Given the description of an element on the screen output the (x, y) to click on. 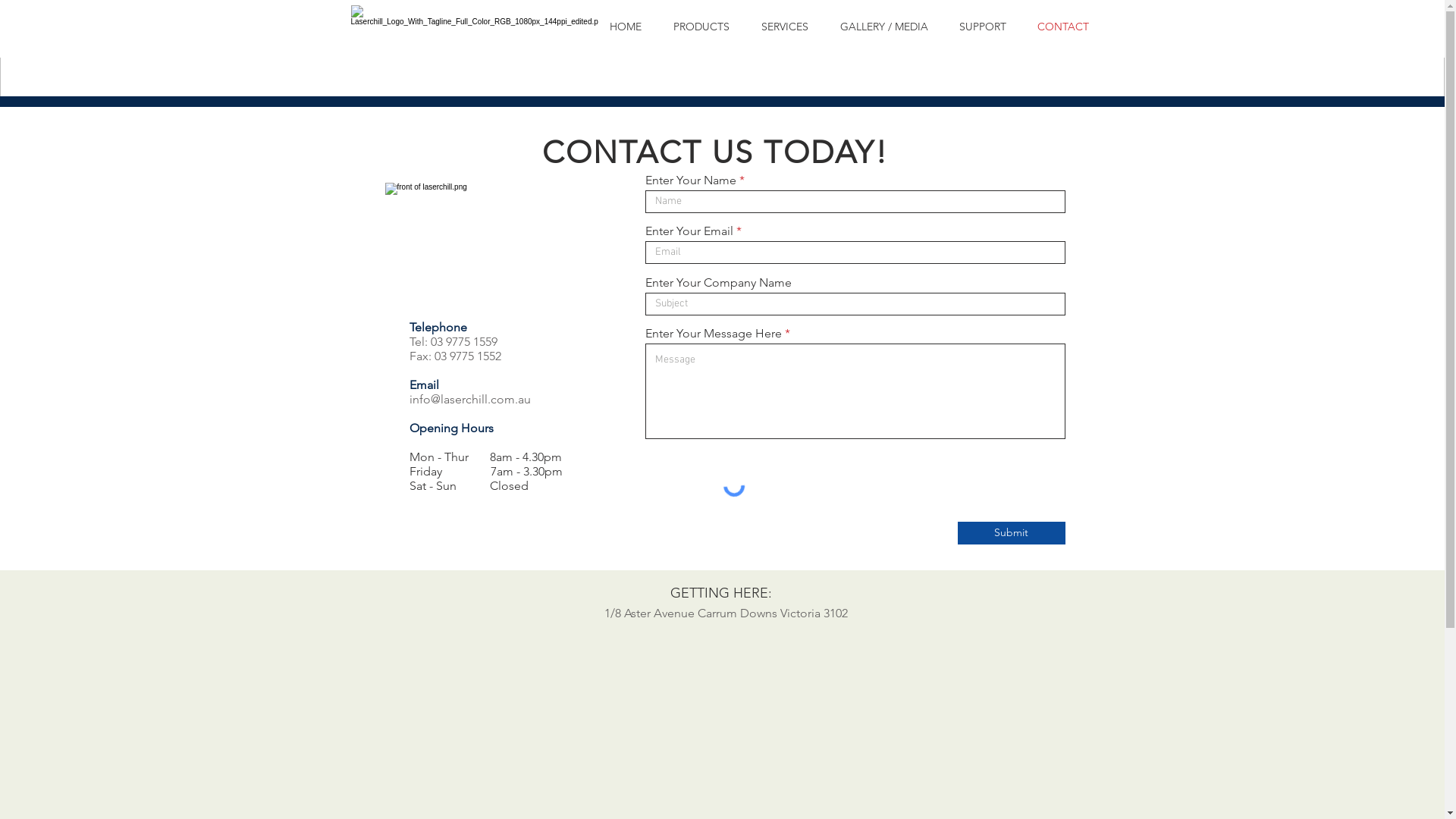
SUPPORT Element type: text (982, 26)
SERVICES Element type: text (783, 26)
HOME Element type: text (624, 26)
CONTACT Element type: text (1063, 26)
PRODUCTS Element type: text (700, 26)
Submit Element type: text (1010, 532)
info@laserchill.com.au Element type: text (469, 399)
GALLERY / MEDIA Element type: text (883, 26)
